Given the description of an element on the screen output the (x, y) to click on. 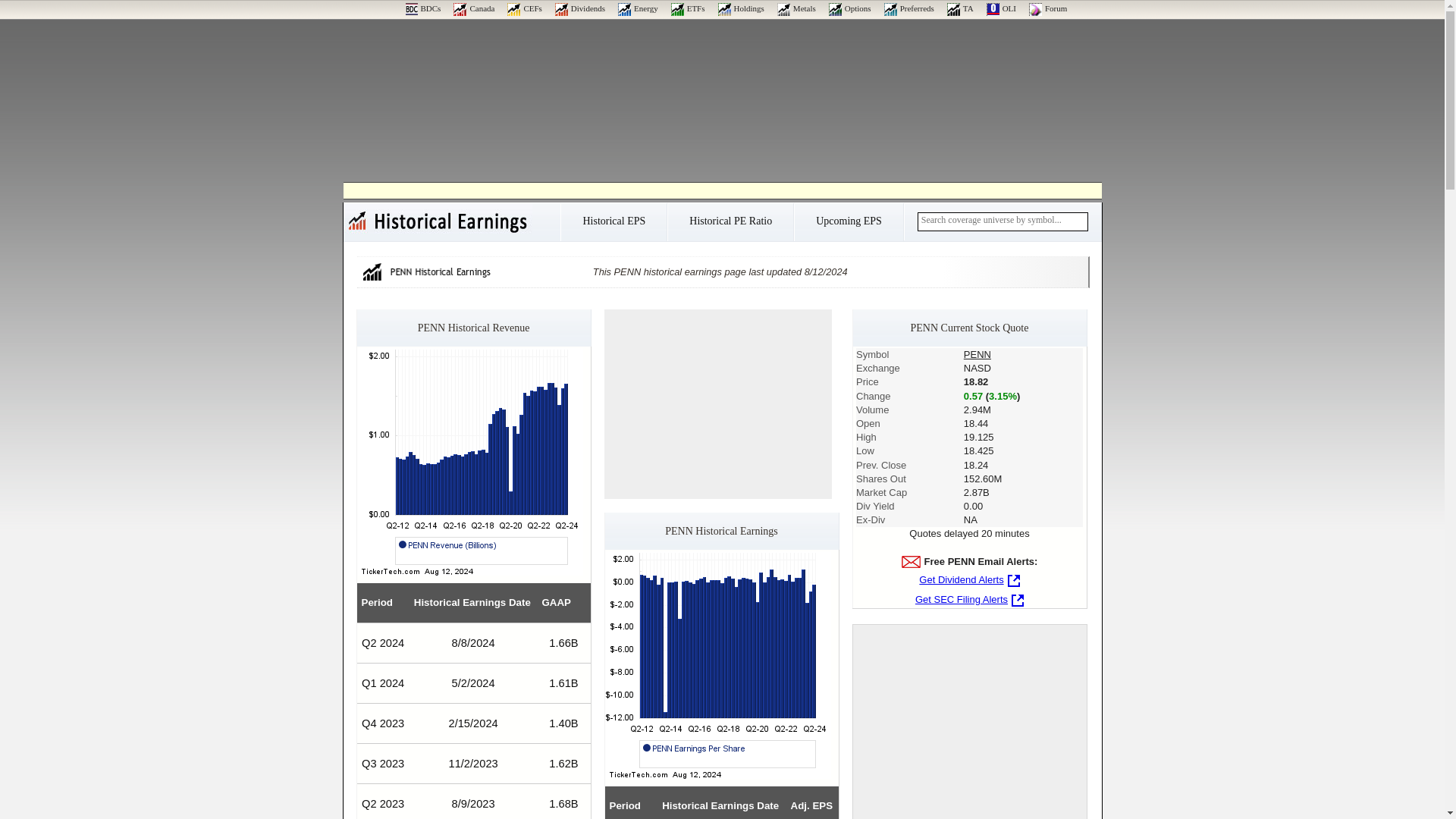
PENN (977, 354)
Canada (473, 8)
ValueForum (1048, 8)
Get SEC Filing Alerts (969, 599)
BDCs (422, 8)
Preferreds (908, 8)
OLI (1001, 8)
Historical EPS (613, 225)
Dividends (579, 8)
Historical EPS (613, 225)
